Given the description of an element on the screen output the (x, y) to click on. 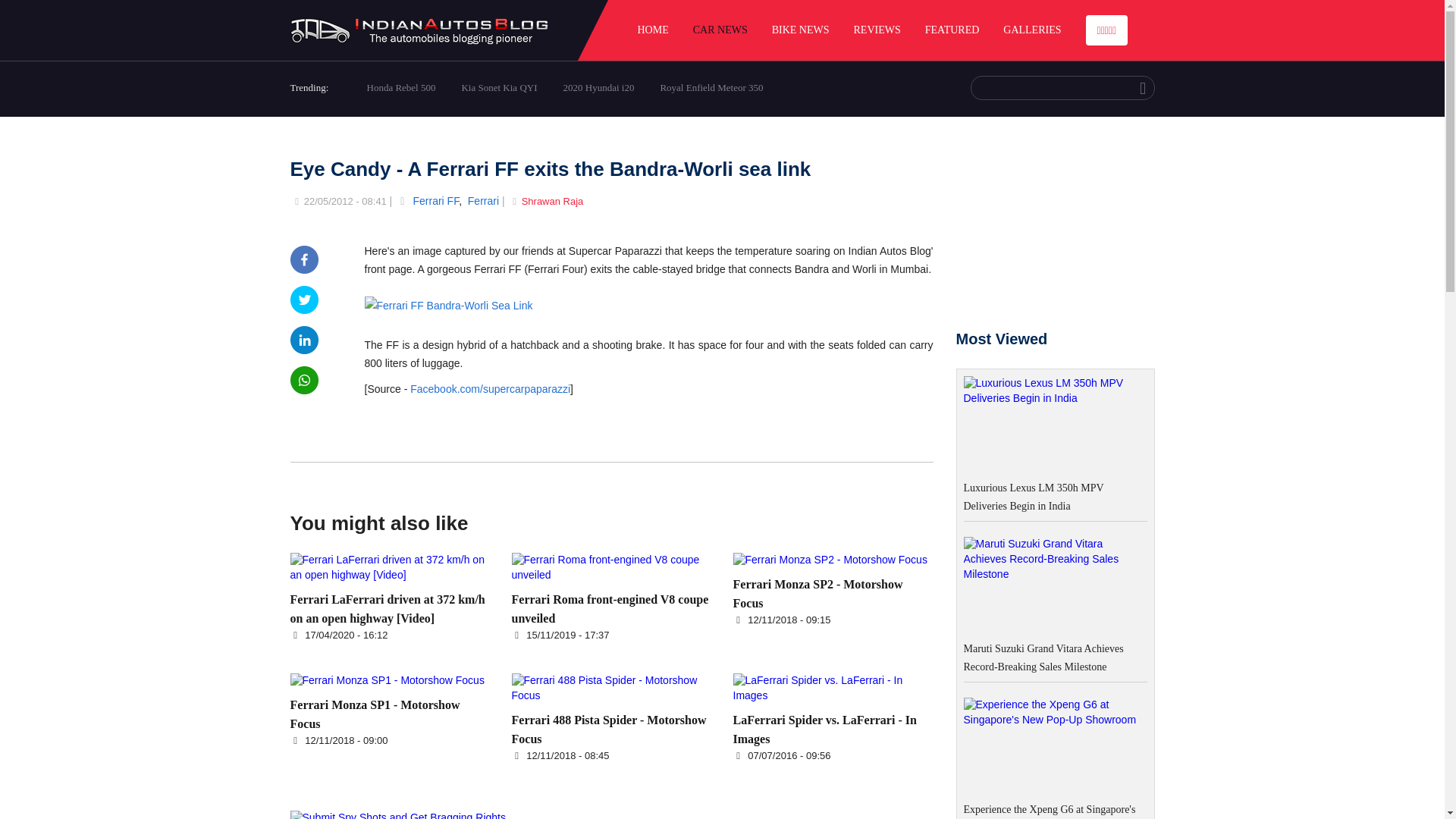
CAR NEWS (720, 30)
CAR NEWS (720, 30)
